Given the description of an element on the screen output the (x, y) to click on. 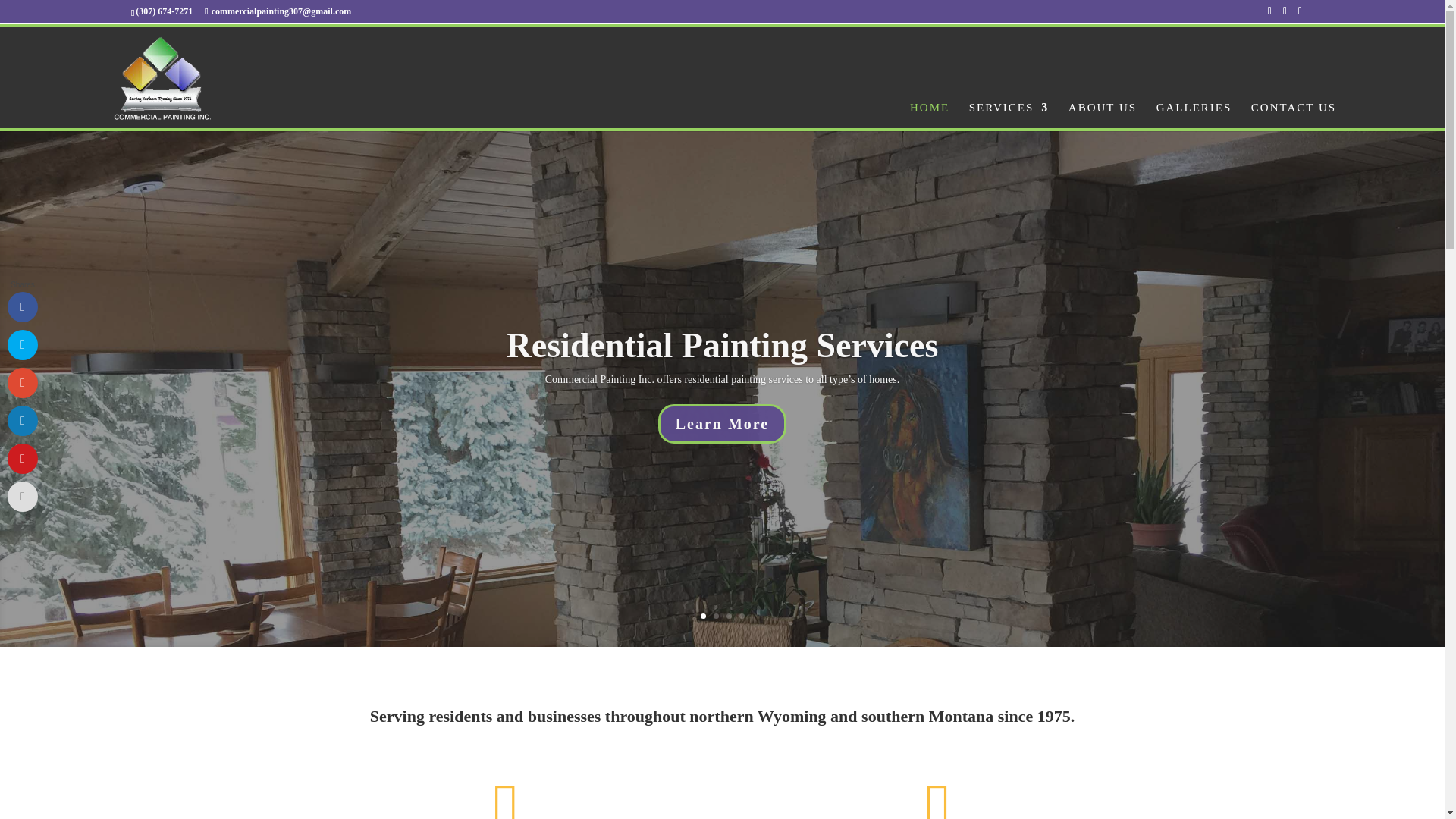
SERVICES (1009, 145)
Residential Painting Services (722, 344)
Learn More (722, 423)
CONTACT US (1293, 145)
